Given the description of an element on the screen output the (x, y) to click on. 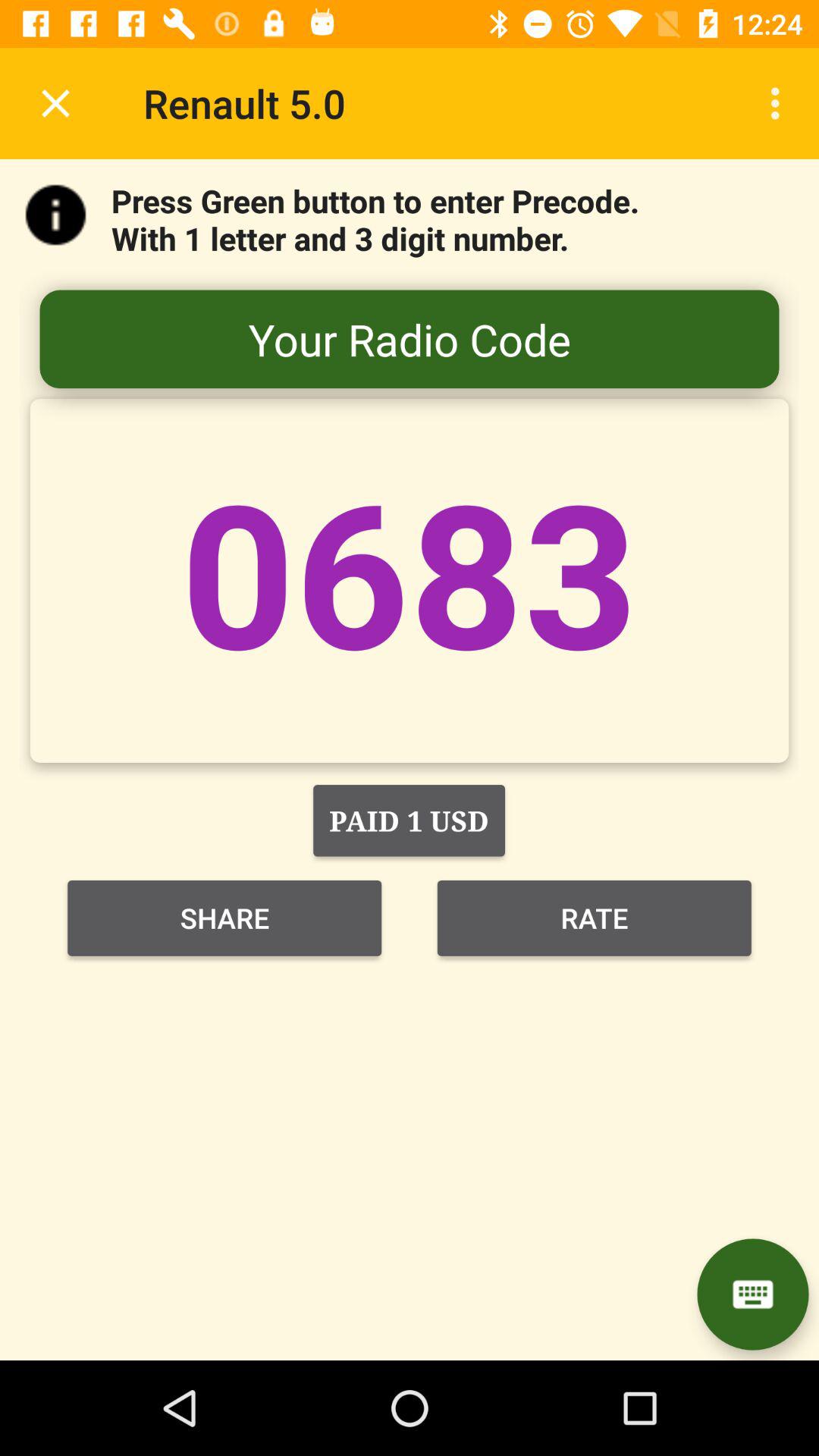
launch item to the left of renault 5.0 (55, 103)
